Given the description of an element on the screen output the (x, y) to click on. 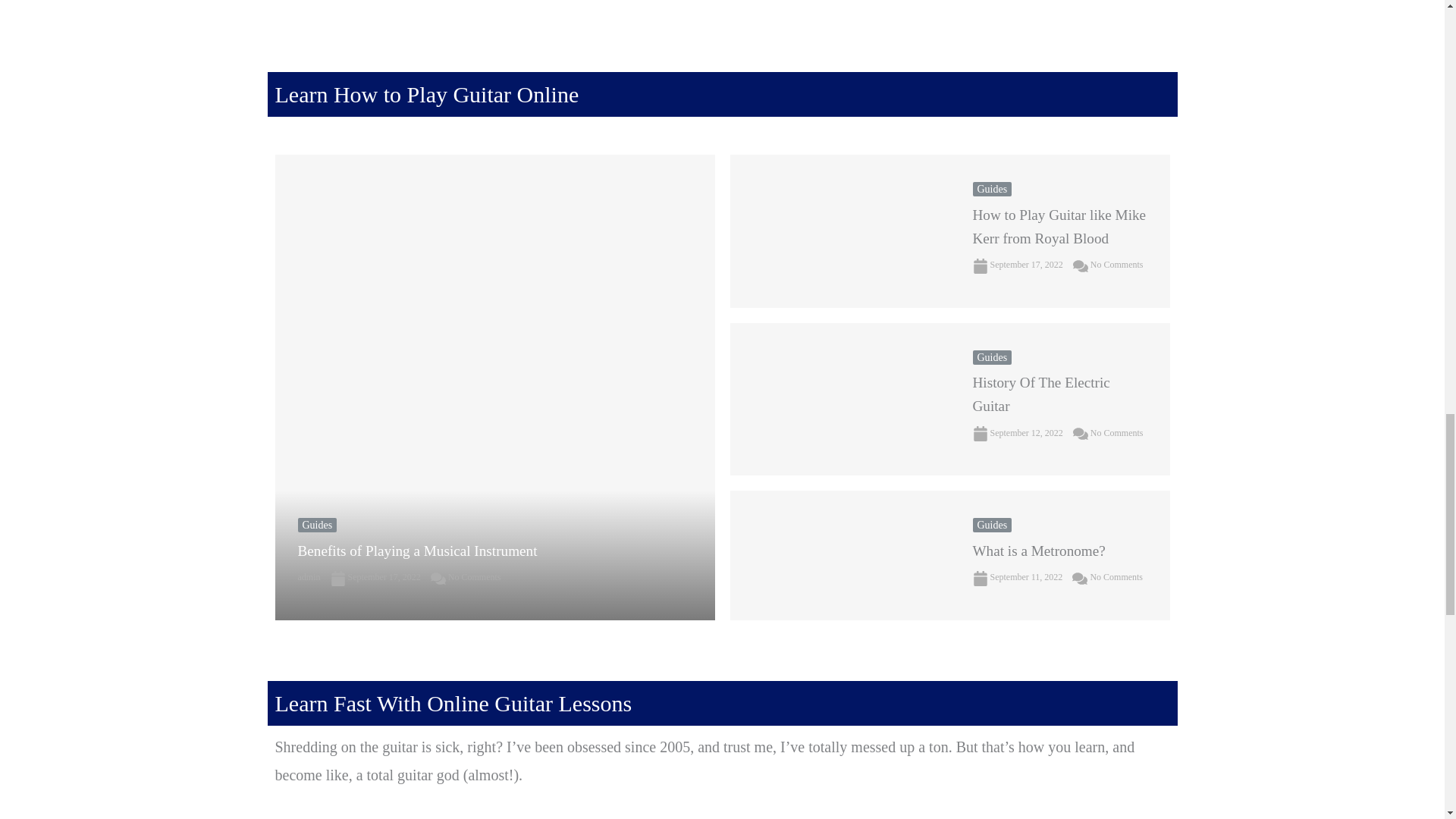
Benefits of Playing a Musical Instrument (417, 550)
How to Play Guitar like Mike Kerr from Royal Blood (839, 230)
History Of The Electric Guitar (839, 398)
admin (308, 576)
What is a Metronome? (839, 554)
Posts by admin (308, 576)
Guides (991, 188)
Guides (316, 524)
